Given the description of an element on the screen output the (x, y) to click on. 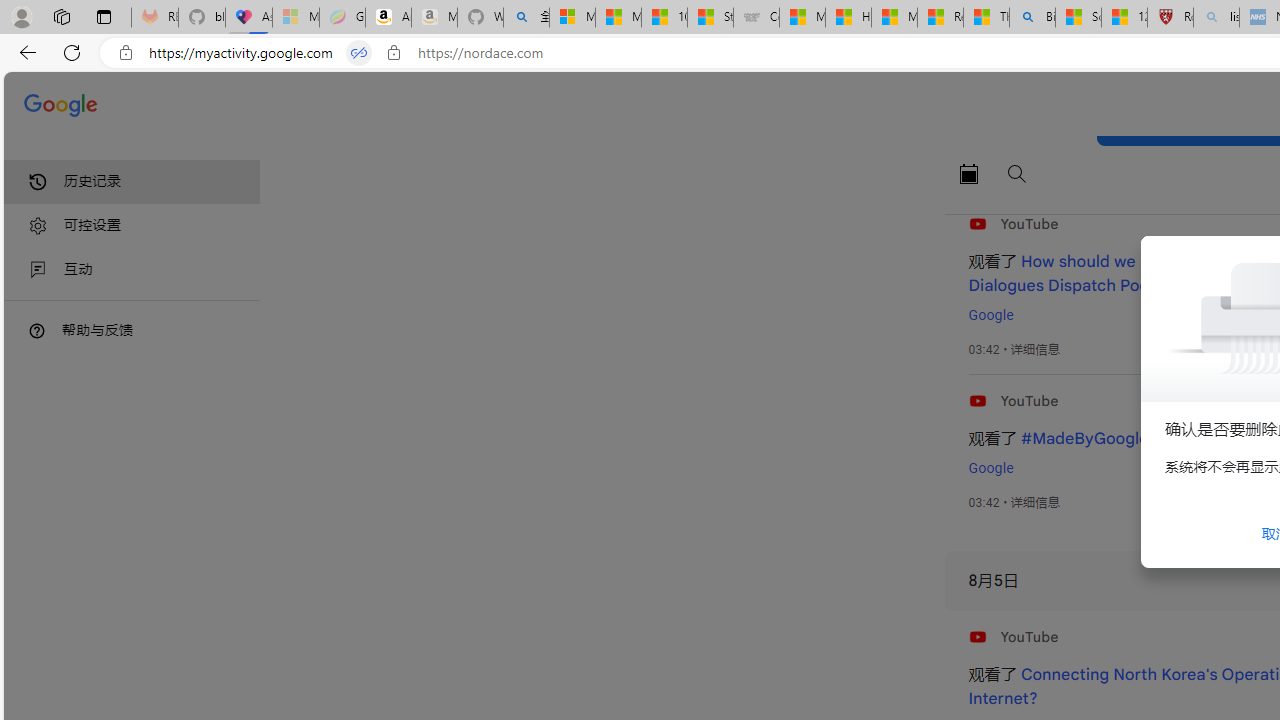
How I Got Rid of Microsoft Edge's Unnecessary Features (848, 17)
Bing (1031, 17)
Class: DTiKkd NMm5M (37, 330)
Class: i2GIId (38, 269)
